Given the description of an element on the screen output the (x, y) to click on. 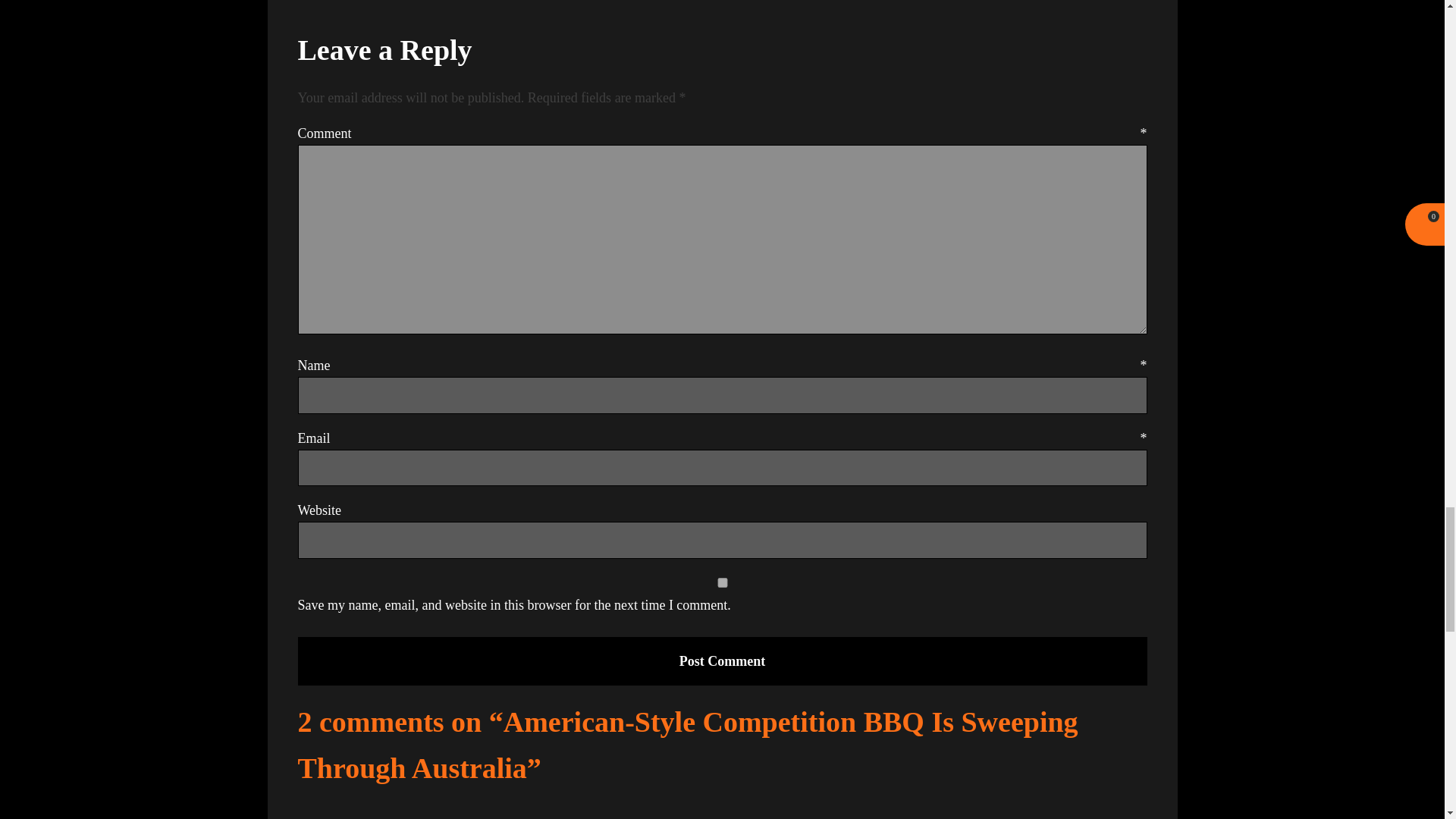
Post Comment (722, 661)
yes (722, 583)
